Given the description of an element on the screen output the (x, y) to click on. 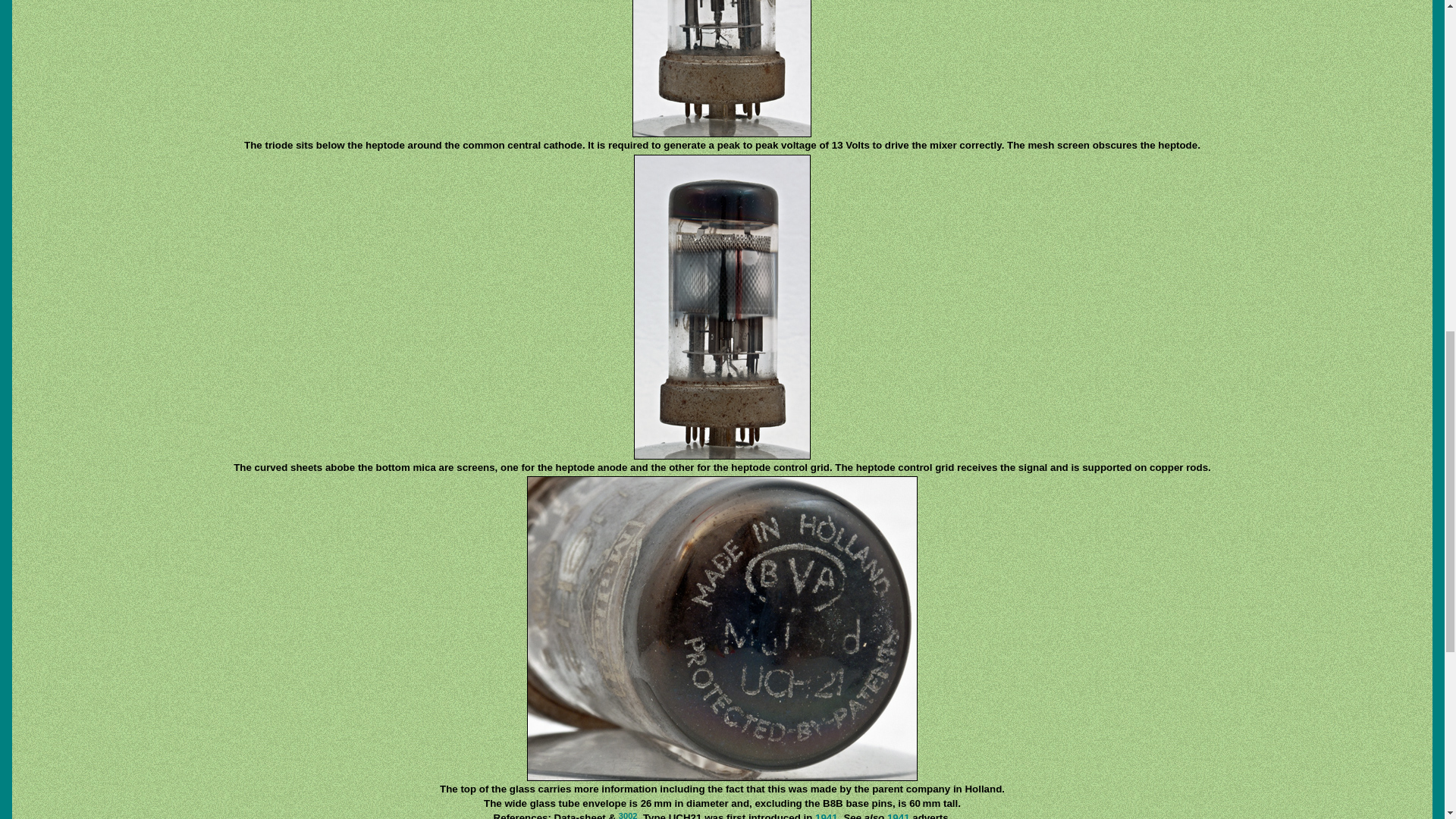
1941 (898, 815)
3002 (627, 815)
1941 (826, 815)
